Given the description of an element on the screen output the (x, y) to click on. 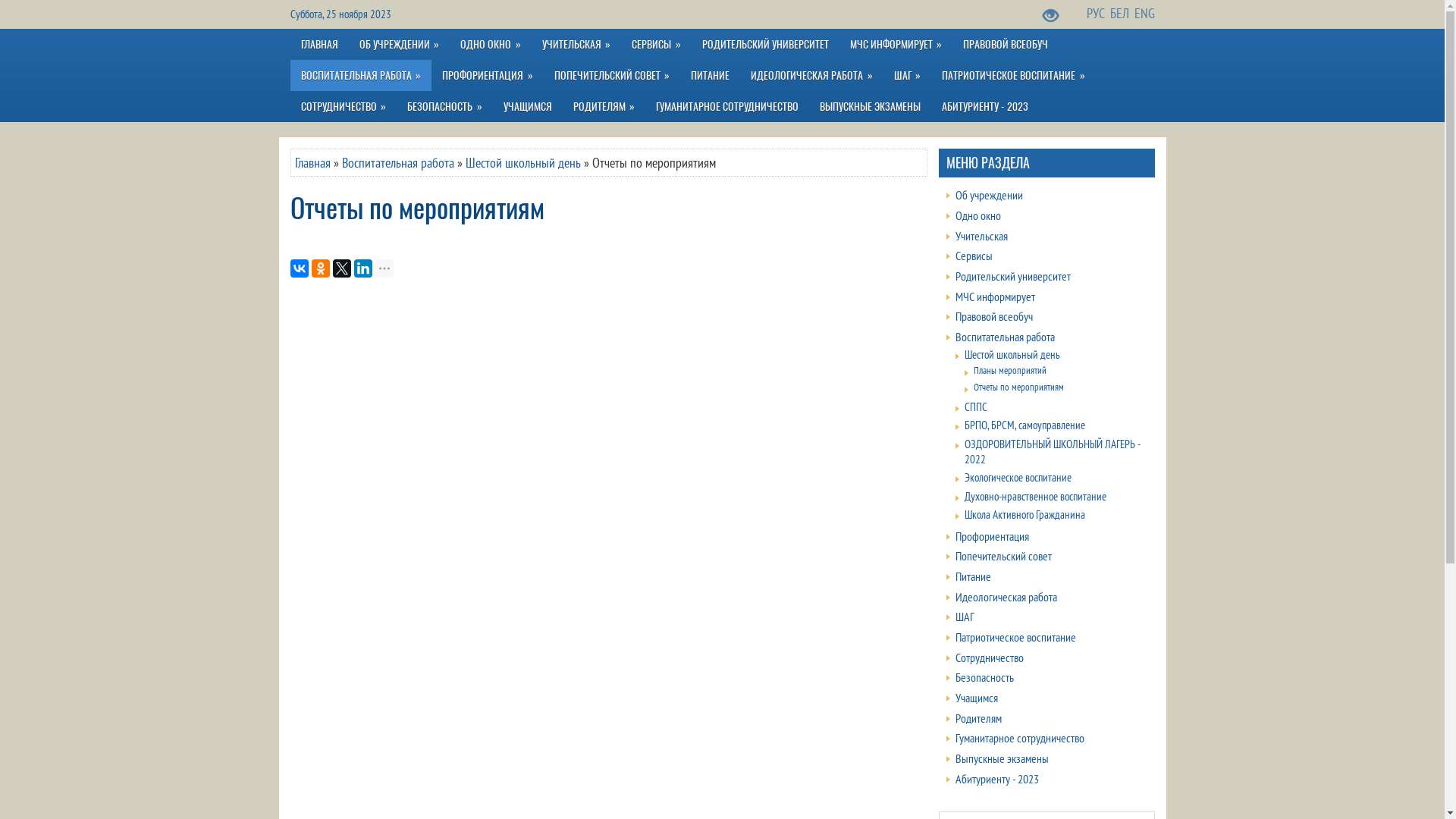
Twitter Element type: hover (341, 268)
ENG Element type: text (1144, 12)
LinkedIn Element type: hover (362, 268)
